Given the description of an element on the screen output the (x, y) to click on. 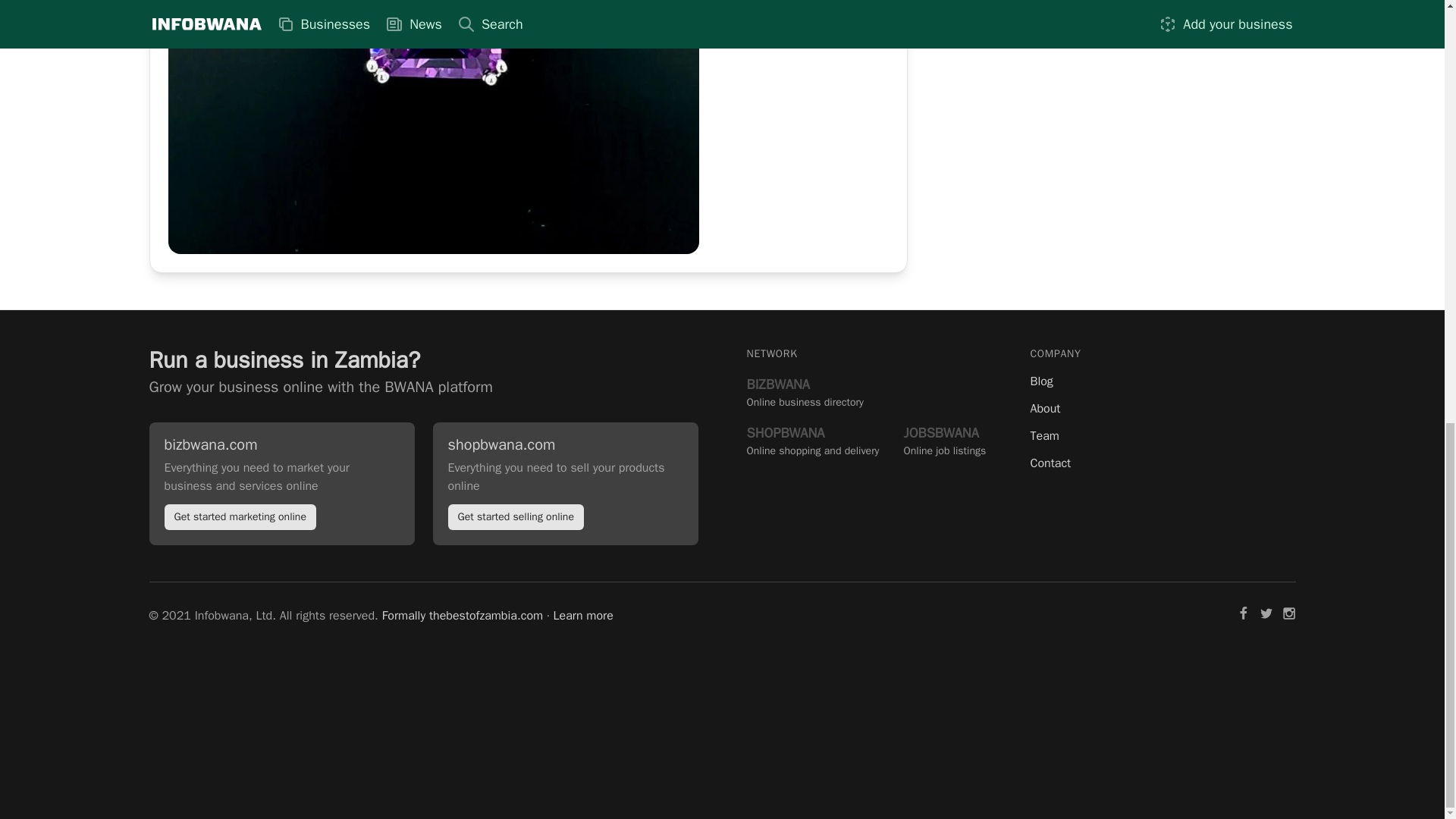
Contact (1162, 462)
Get started marketing online (239, 516)
Get started selling online (812, 439)
Blog (514, 516)
Team (1162, 380)
About (1162, 435)
Grow your business online with the BWANA platform (945, 439)
